Given the description of an element on the screen output the (x, y) to click on. 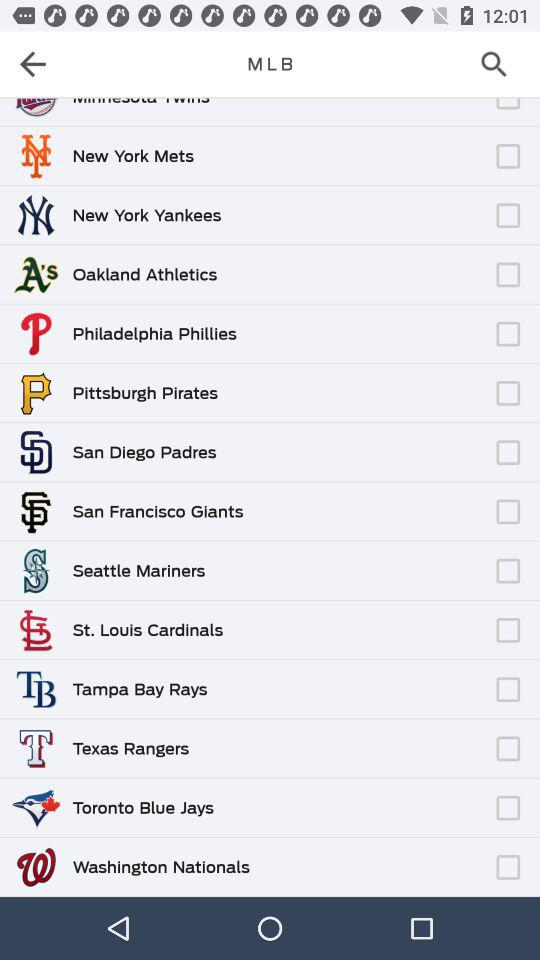
choose the item to the right of pittsburgh pirates item (353, 383)
